Given the description of an element on the screen output the (x, y) to click on. 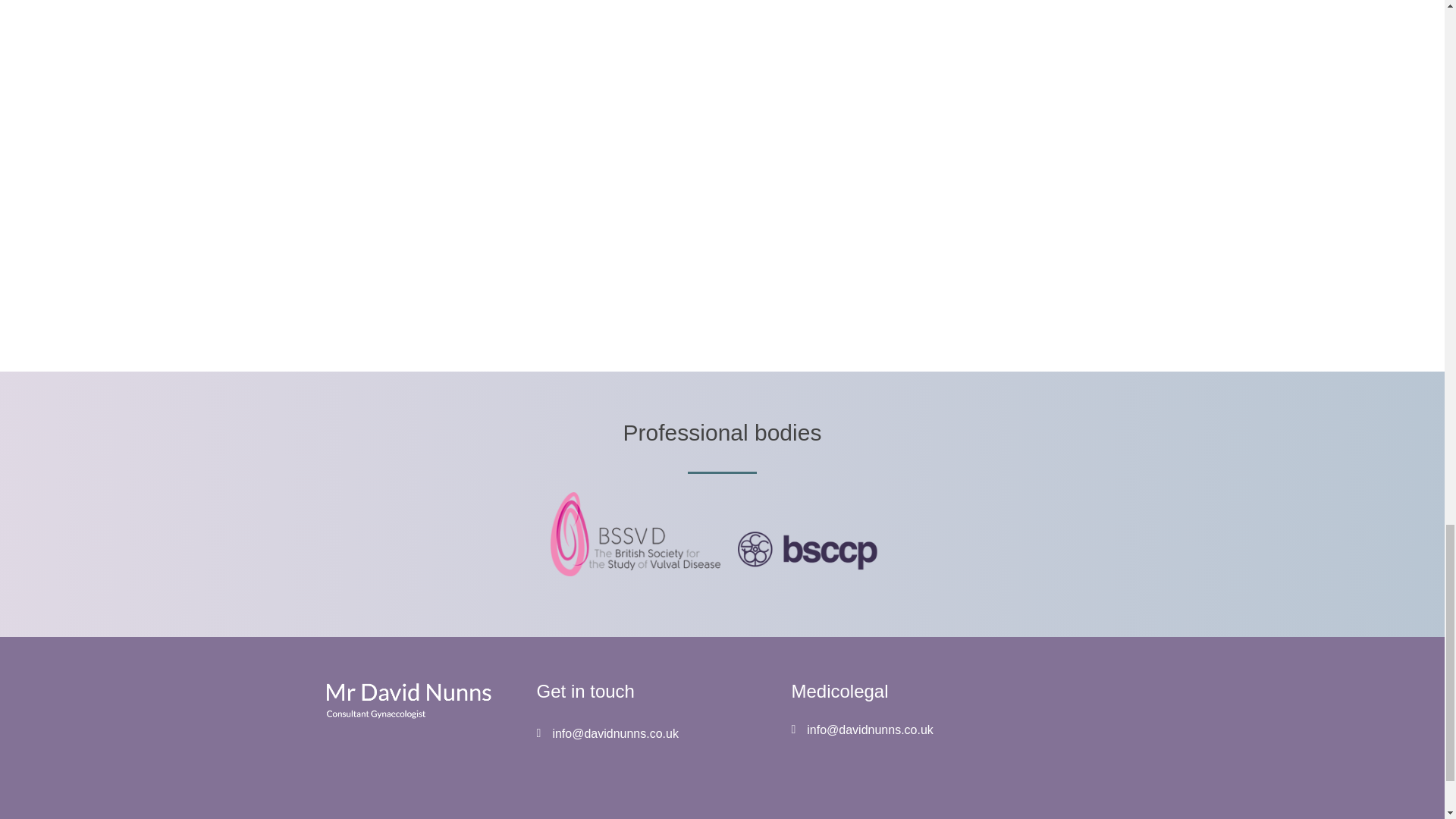
Mr-David-Nunns-logo-white (406, 700)
